Given the description of an element on the screen output the (x, y) to click on. 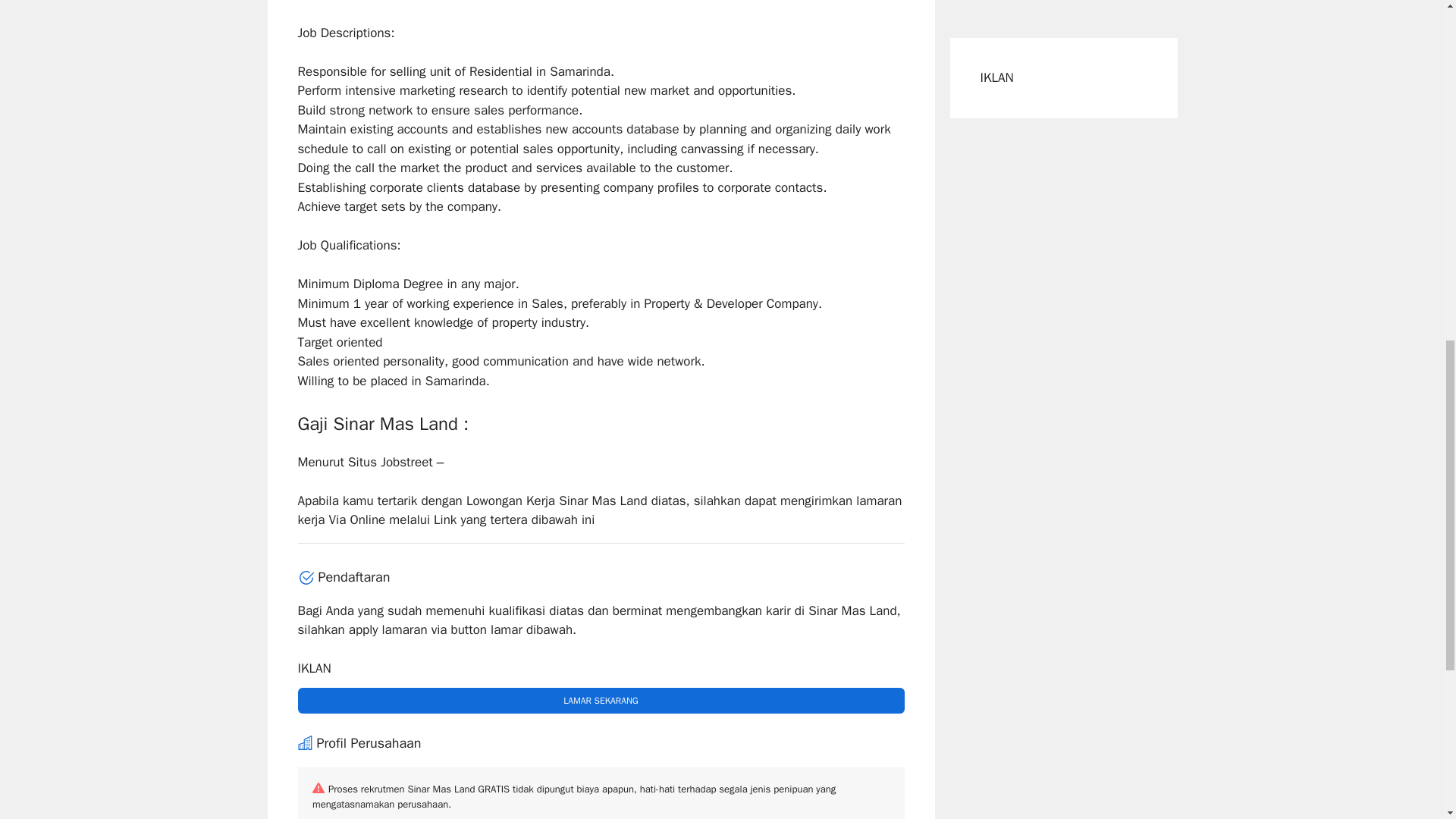
LAMAR SEKARANG (600, 700)
LAMAR SEKARANG (600, 700)
